Given the description of an element on the screen output the (x, y) to click on. 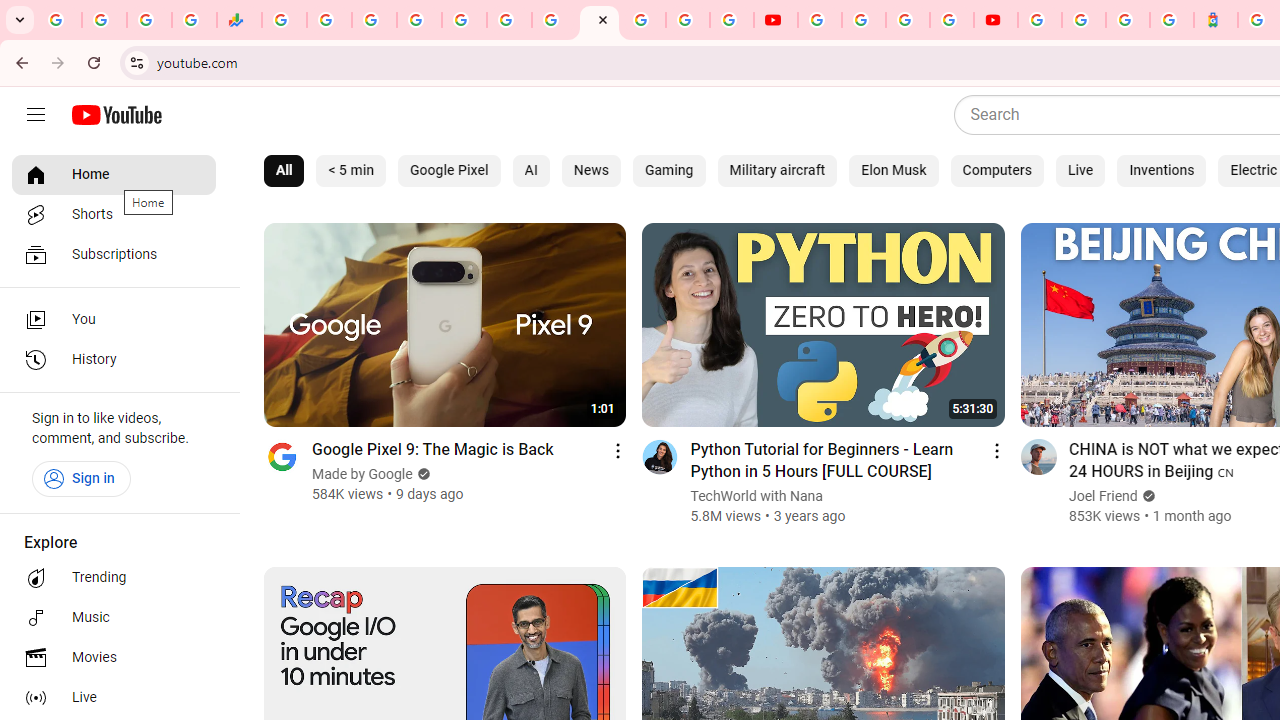
Sign in - Google Accounts (1039, 20)
Sign in - Google Accounts (418, 20)
Live (1079, 170)
Shorts (113, 214)
Content Creator Programs & Opportunities - YouTube Creators (995, 20)
Atour Hotel - Google hotels (1215, 20)
Home (113, 174)
Sign in - Google Accounts (1083, 20)
Joel Friend (1103, 496)
